Given the description of an element on the screen output the (x, y) to click on. 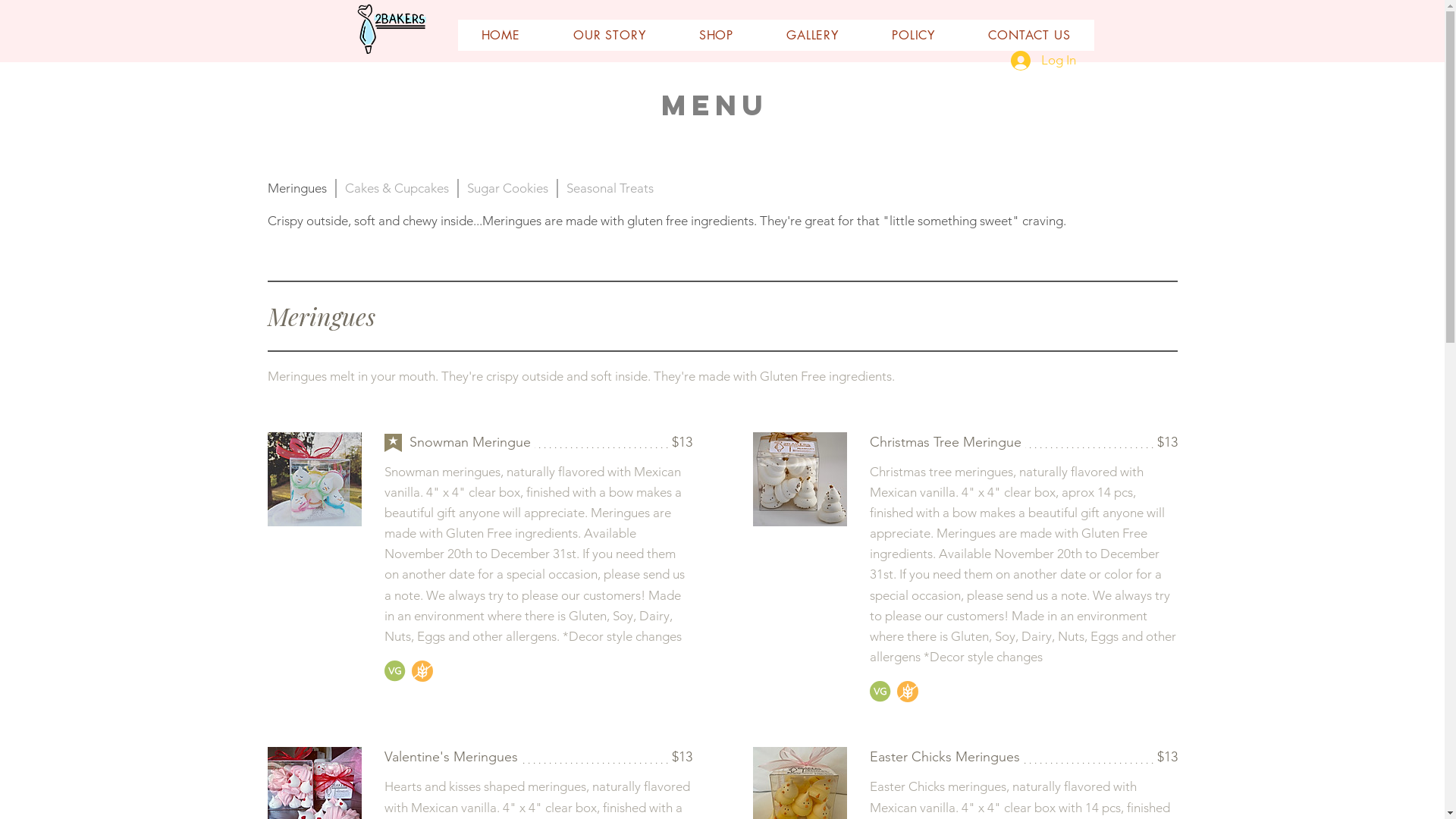
SHOP Element type: text (716, 34)
POLICY Element type: text (913, 34)
Restaurant Social Bar Element type: hover (1358, 790)
OUR STORY Element type: text (609, 34)
Log In Element type: text (1042, 60)
HOME Element type: text (501, 34)
CONTACT US Element type: text (1028, 34)
GALLERY Element type: text (812, 34)
